Given the description of an element on the screen output the (x, y) to click on. 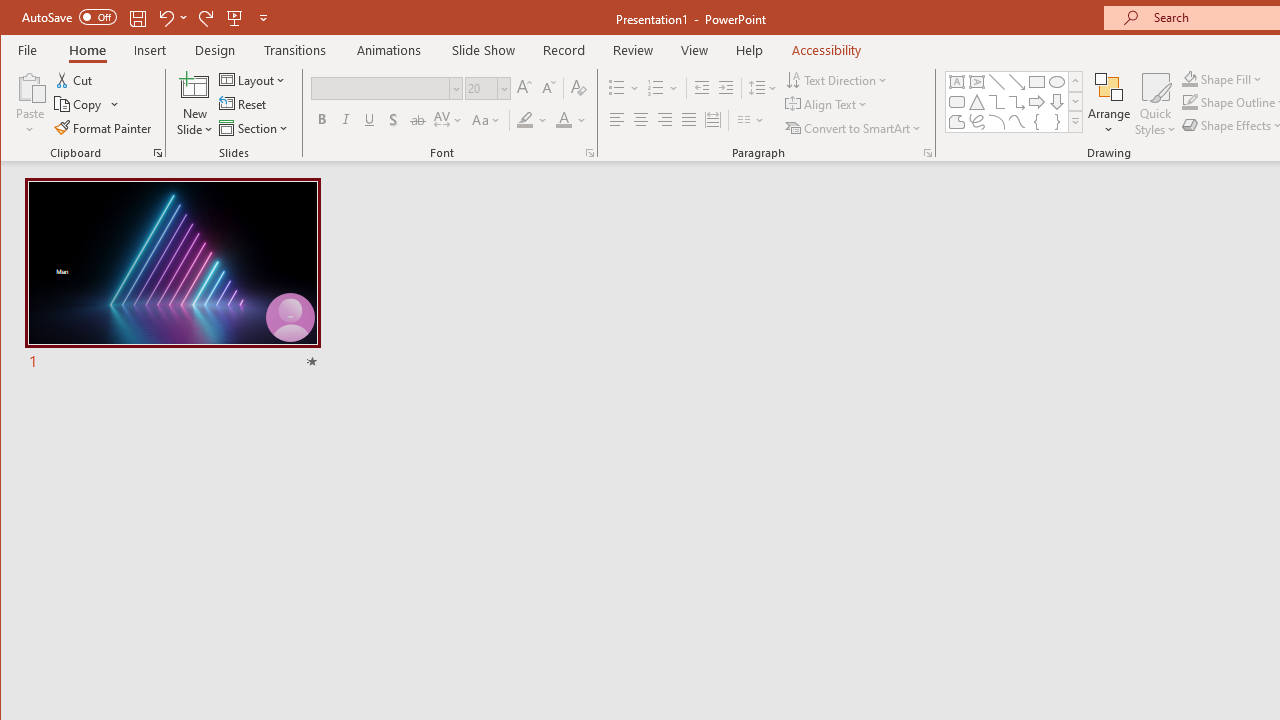
Align Left (616, 119)
Shape Outline Blue, Accent 1 (1189, 101)
Decrease Font Size (548, 88)
Increase Font Size (524, 88)
Character Spacing (449, 119)
Quick Styles (1155, 104)
Distributed (712, 119)
Cut (74, 80)
Left Brace (1036, 121)
Right Brace (1057, 121)
